Given the description of an element on the screen output the (x, y) to click on. 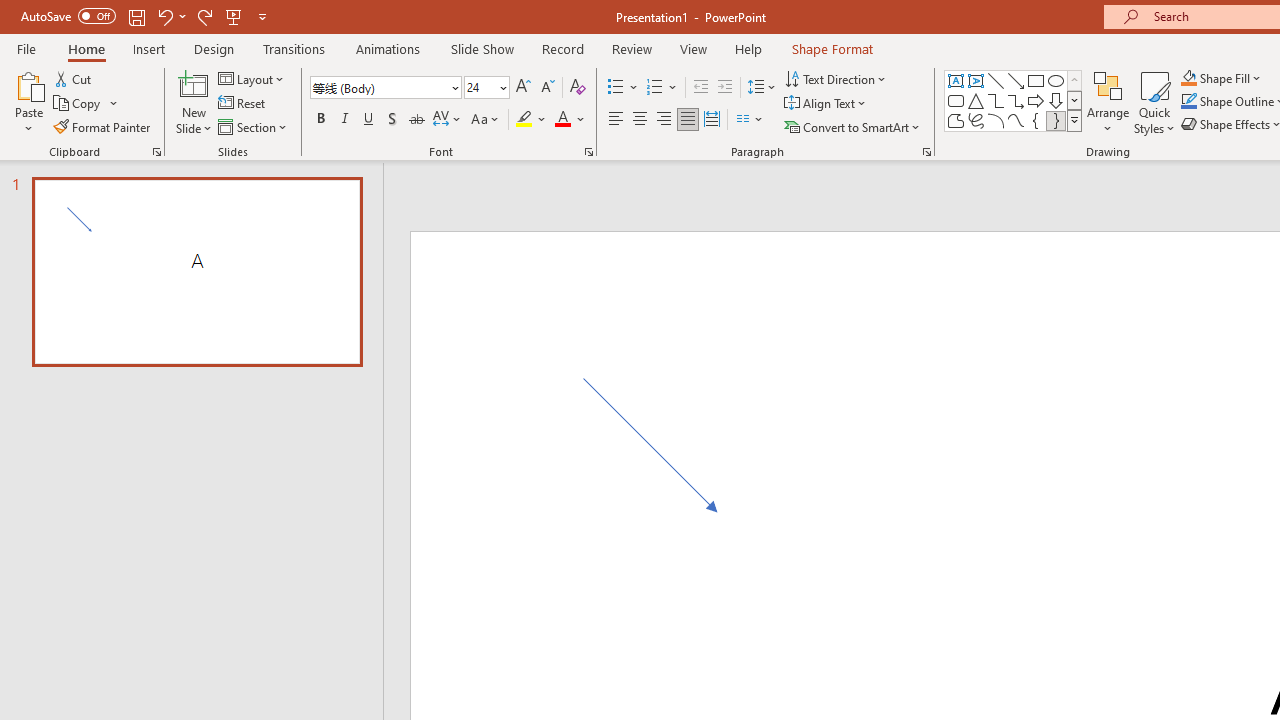
Vertical Text Box (975, 80)
Align Right (663, 119)
Shape Outline Blue, Accent 1 (1188, 101)
Connector: Elbow (995, 100)
Increase Indent (725, 87)
Underline (369, 119)
Character Spacing (447, 119)
